Given the description of an element on the screen output the (x, y) to click on. 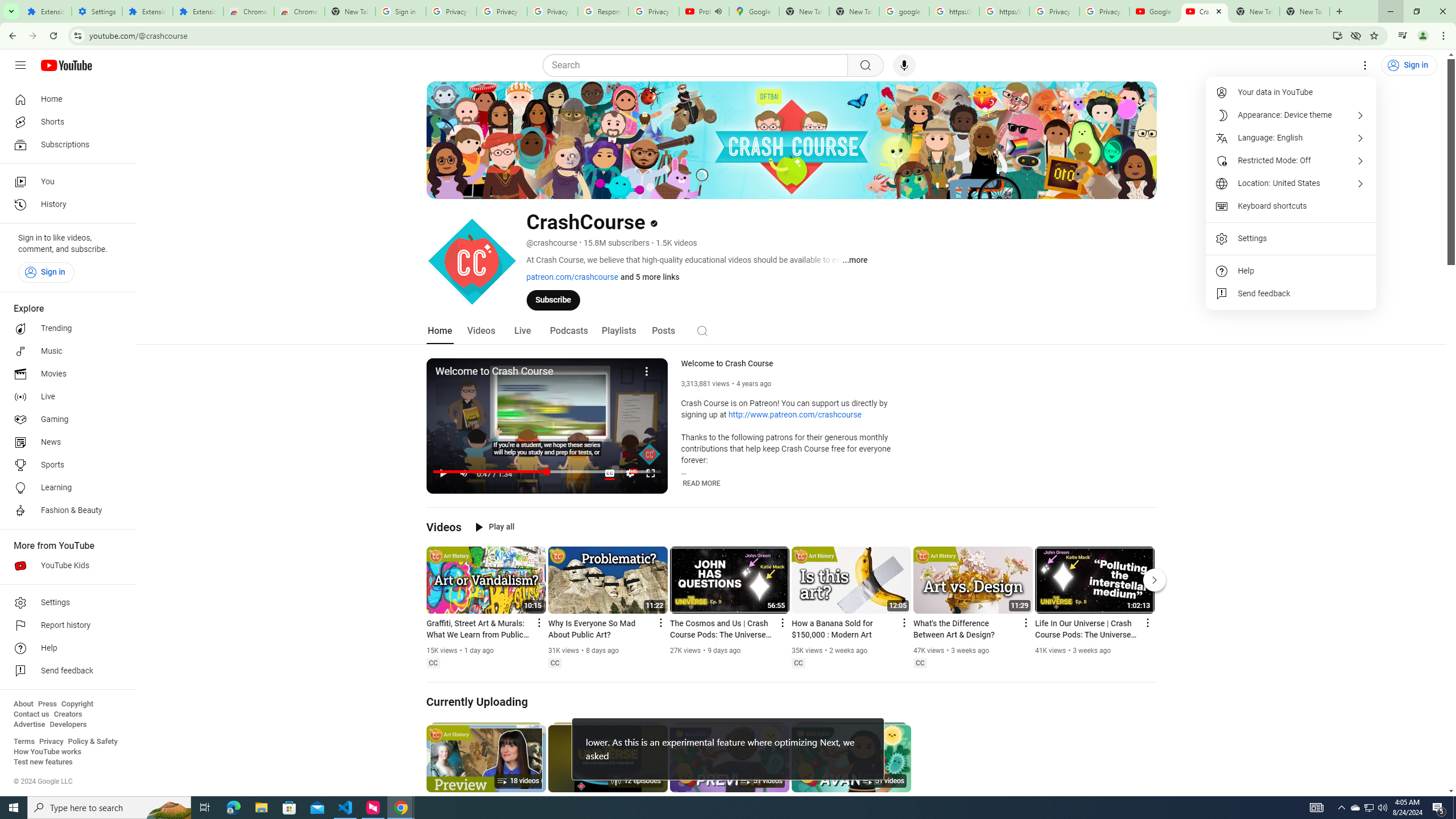
Trending (64, 328)
Creators (67, 714)
Copyright (77, 703)
Extensions (197, 11)
New Tab (350, 11)
How YouTube works (47, 751)
Movies (64, 373)
About (23, 703)
Live (521, 330)
Subtitles/closed captions unavailable (609, 472)
Search with your voice (903, 65)
Posts (663, 330)
